Given the description of an element on the screen output the (x, y) to click on. 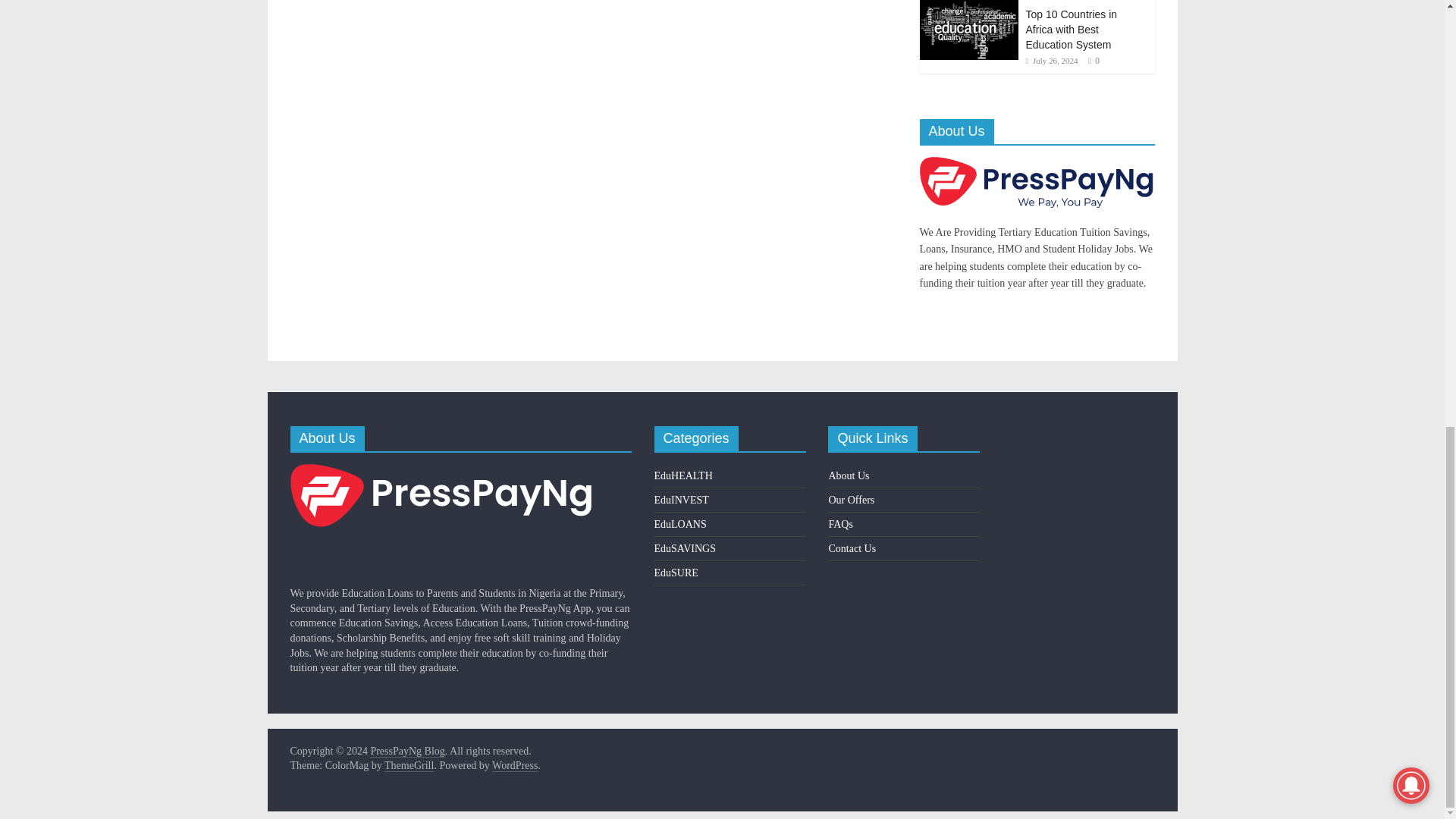
July 26, 2024 (1051, 60)
Top 10 Countries in Africa with Best Education System (1070, 28)
